Given the description of an element on the screen output the (x, y) to click on. 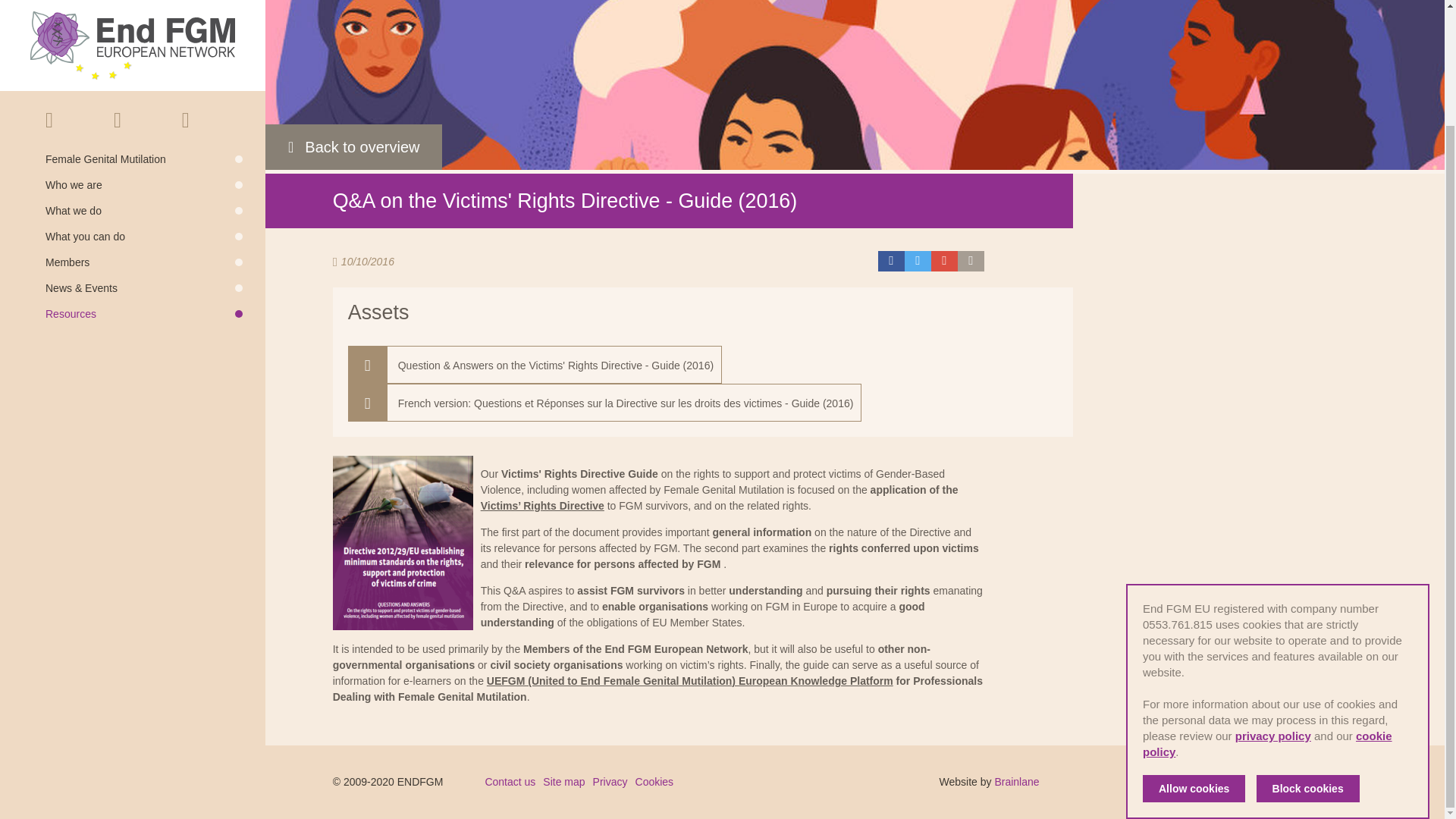
Members (144, 124)
What we do (144, 72)
Female Genital Mutilation (144, 21)
What we do (144, 72)
Who we are (144, 47)
Who we are (144, 47)
What you can do (144, 99)
Female Genital Mutilation (144, 21)
